Given the description of an element on the screen output the (x, y) to click on. 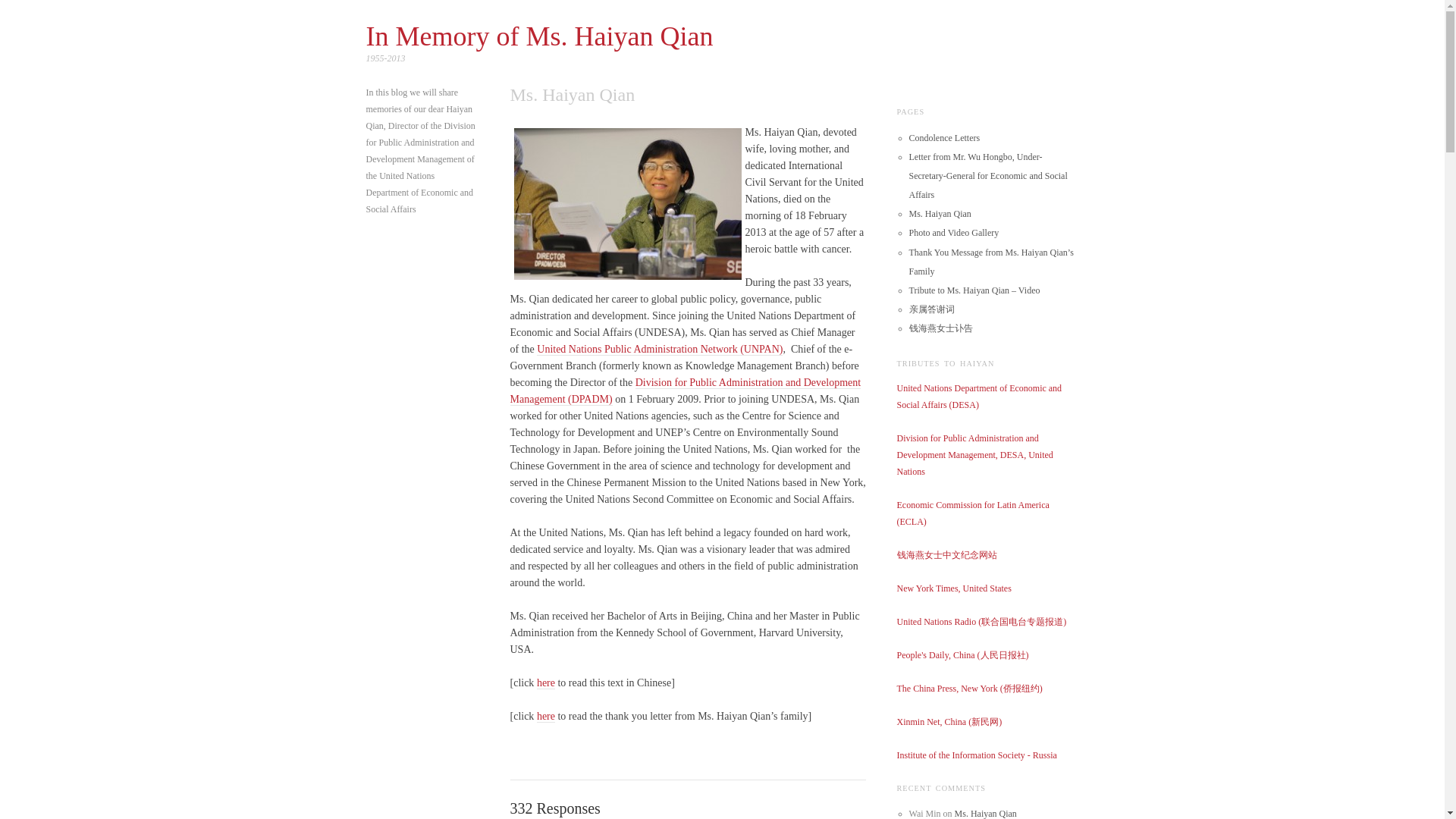
here (545, 683)
In Memory of Ms. Haiyan Qian (539, 36)
Text in Chinese (545, 683)
In Memory of Ms. Haiyan Qian (539, 36)
UNPAN (660, 349)
here (545, 716)
DPADM (684, 390)
Tahnk you letter from Ms. Haiyan Qian's family (545, 716)
